Given the description of an element on the screen output the (x, y) to click on. 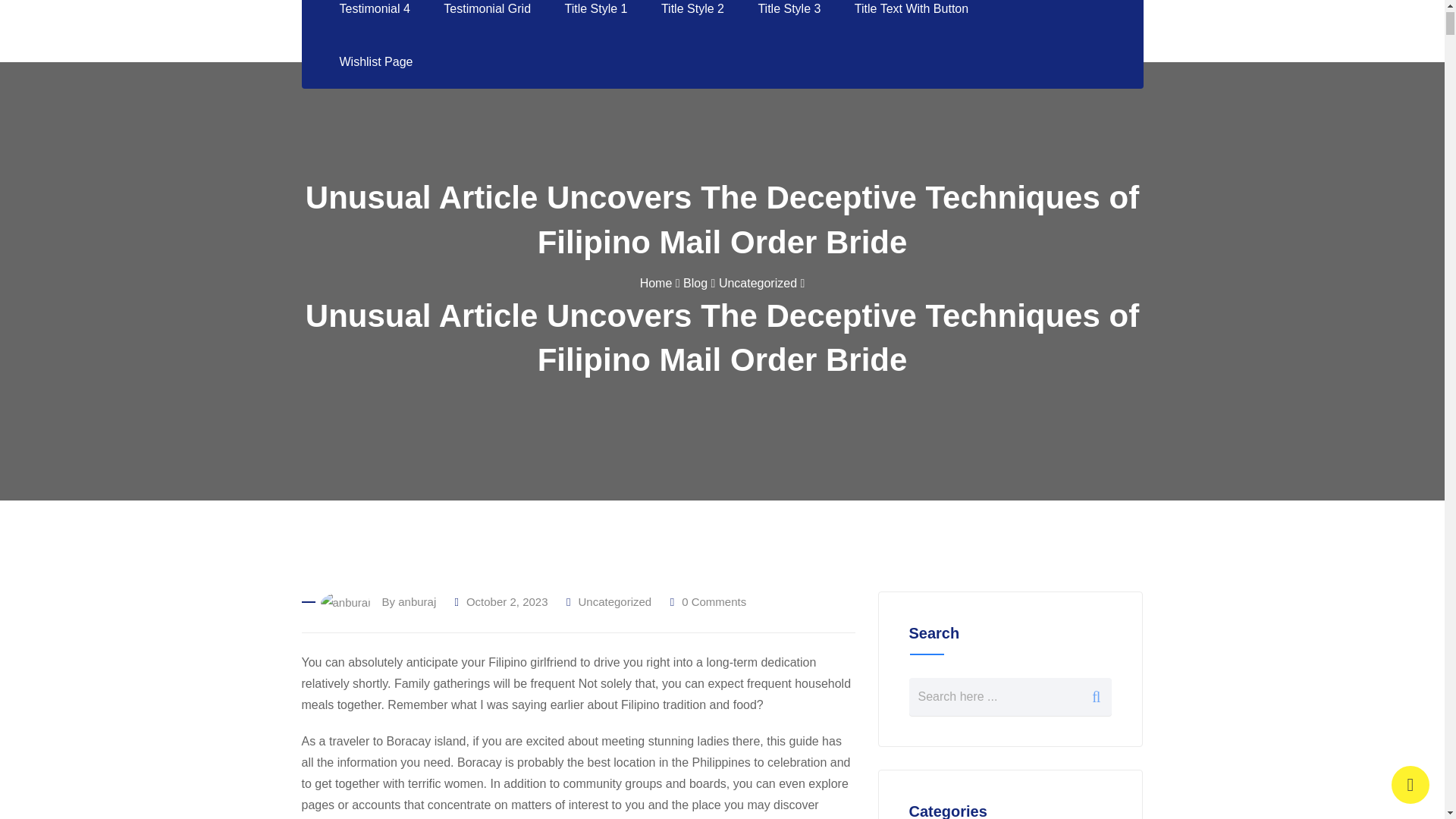
Go to Ever Gold. (656, 282)
Go to Blog. (694, 282)
Go to the Uncategorized category archives. (757, 282)
